Given the description of an element on the screen output the (x, y) to click on. 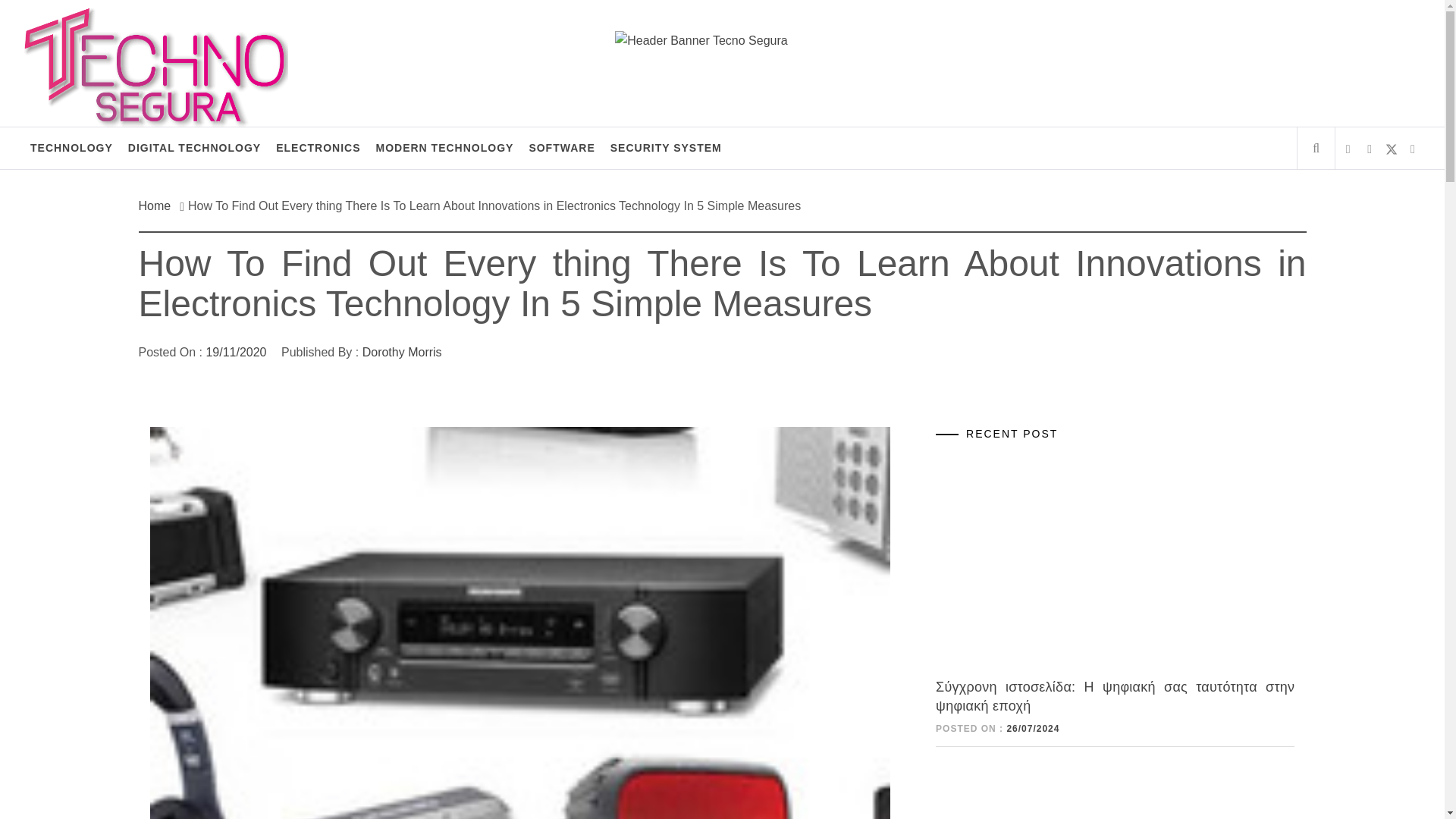
MODERN TECHNOLOGY (444, 147)
Home (158, 205)
ELECTRONICS (317, 147)
Dorothy Morris (402, 351)
SOFTWARE (561, 147)
Search (797, 37)
SECURITY SYSTEM (665, 147)
Tecno Segura (119, 38)
